Given the description of an element on the screen output the (x, y) to click on. 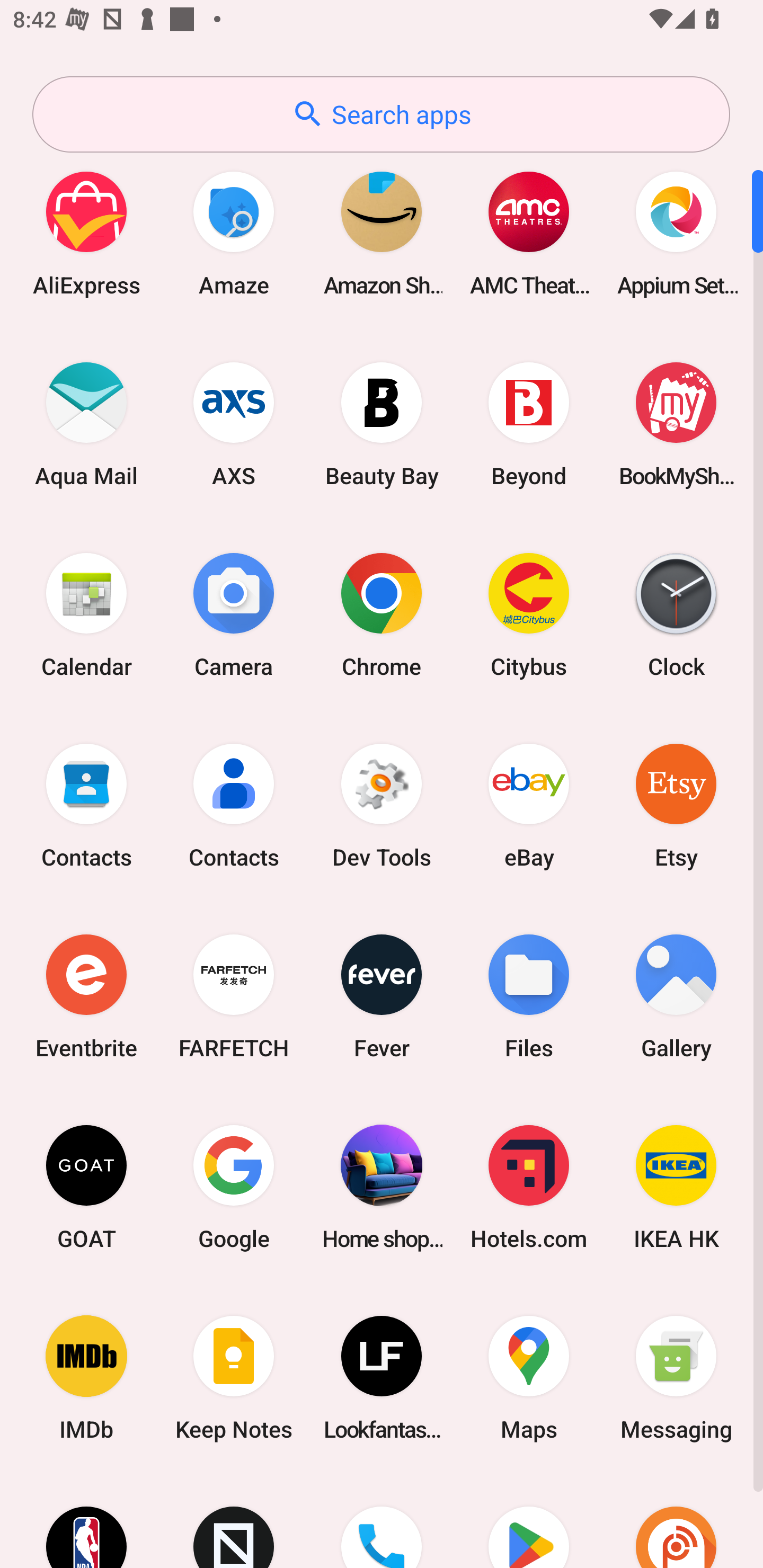
  Search apps (381, 114)
AliExpress (86, 233)
Amaze (233, 233)
Amazon Shopping (381, 233)
AMC Theatres (528, 233)
Appium Settings (676, 233)
Aqua Mail (86, 424)
AXS (233, 424)
Beauty Bay (381, 424)
Beyond (528, 424)
BookMyShow (676, 424)
Calendar (86, 614)
Camera (233, 614)
Chrome (381, 614)
Citybus (528, 614)
Clock (676, 614)
Contacts (86, 805)
Contacts (233, 805)
Dev Tools (381, 805)
eBay (528, 805)
Etsy (676, 805)
Eventbrite (86, 996)
FARFETCH (233, 996)
Fever (381, 996)
Files (528, 996)
Gallery (676, 996)
GOAT (86, 1186)
Google (233, 1186)
Home shopping (381, 1186)
Hotels.com (528, 1186)
IKEA HK (676, 1186)
IMDb (86, 1377)
Keep Notes (233, 1377)
Lookfantastic (381, 1377)
Maps (528, 1377)
Messaging (676, 1377)
NBA (86, 1520)
Novelship (233, 1520)
Phone (381, 1520)
Play Store (528, 1520)
Podcast Addict (676, 1520)
